Given the description of an element on the screen output the (x, y) to click on. 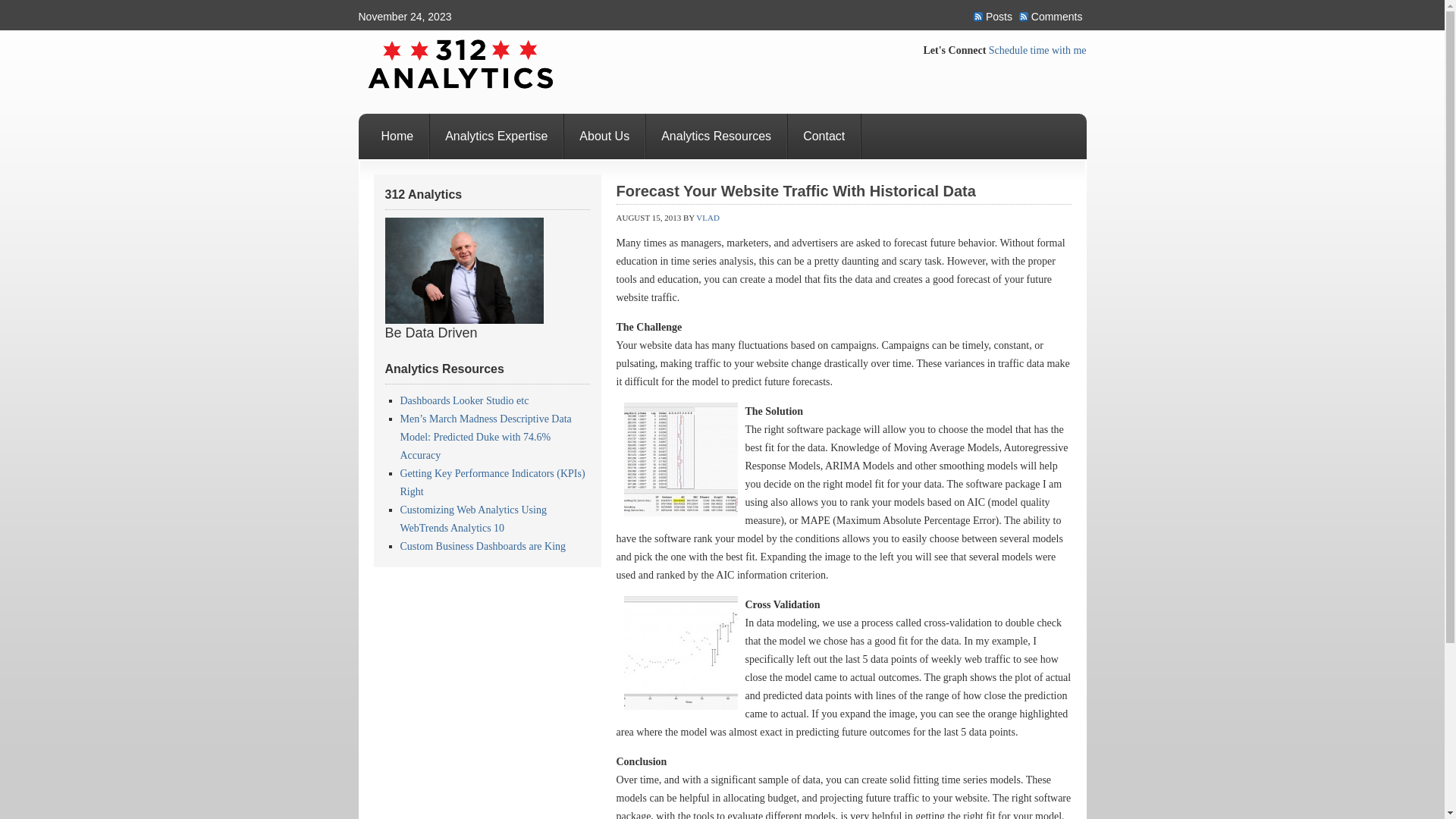
Getting Key Performance Indicators (KPIs) Right Element type: text (492, 482)
Schedule time with me Element type: text (1037, 50)
Dashboards Looker Studio etc Element type: text (464, 400)
Posts Element type: text (994, 16)
Custom Business Dashboards are King Element type: text (483, 546)
312 Analytics: GA4, Digital Analytics, Ecommerce Experts Element type: text (478, 71)
Analytics Resources Element type: text (716, 136)
Comments Element type: text (1052, 16)
About Us Element type: text (605, 136)
Home Element type: text (397, 136)
Analytics Expertise Element type: text (496, 136)
VLAD Element type: text (707, 217)
Customizing Web Analytics Using WebTrends Analytics 10 Element type: text (473, 518)
Contact Element type: text (824, 136)
